Given the description of an element on the screen output the (x, y) to click on. 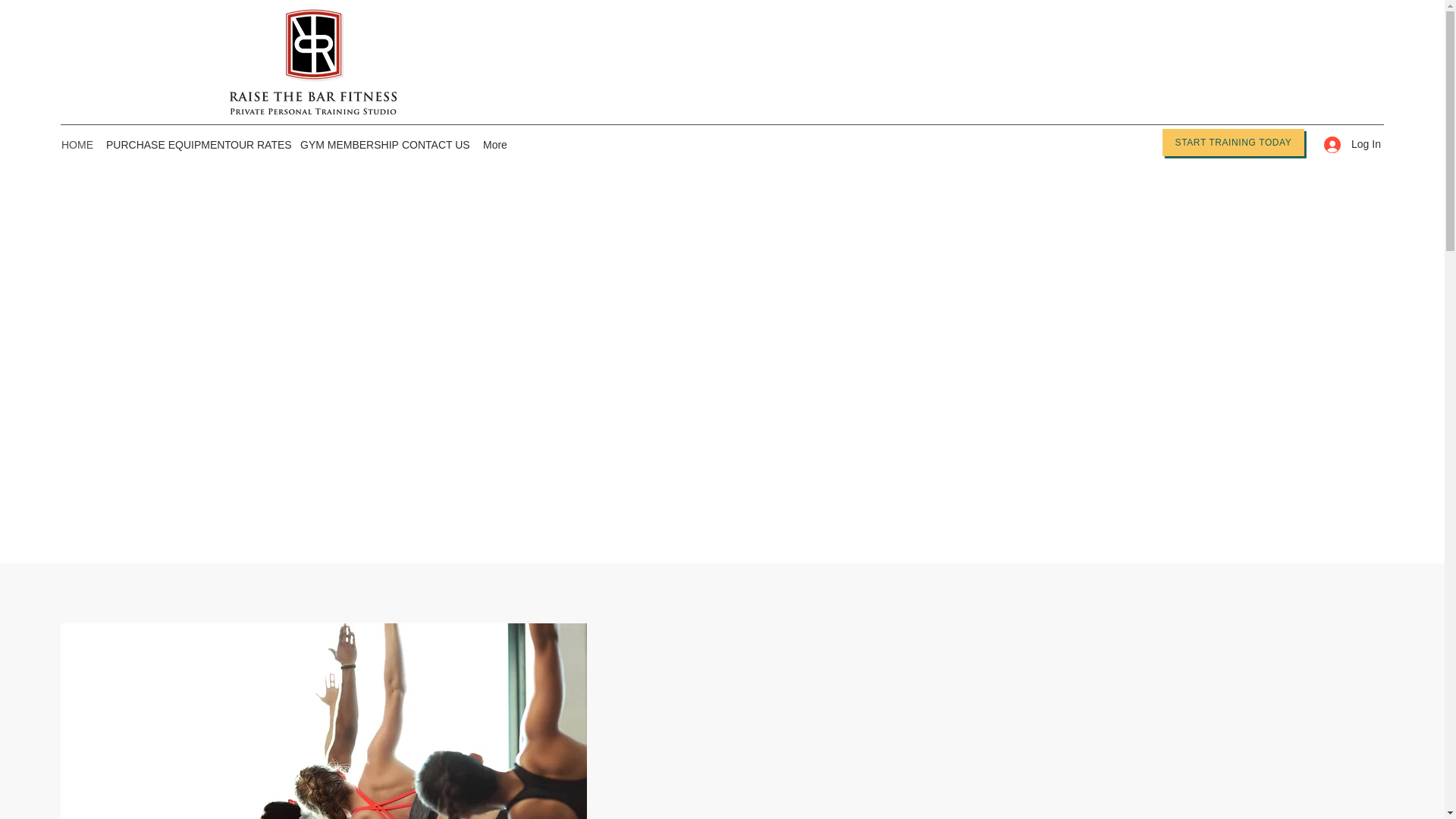
HOME (76, 144)
GYM MEMBERSHIP (343, 144)
CONTACT US (435, 144)
START TRAINING TODAY (1232, 142)
Log In (1347, 144)
OUR RATES (257, 144)
PURCHASE EQUIPMENT (160, 144)
